Given the description of an element on the screen output the (x, y) to click on. 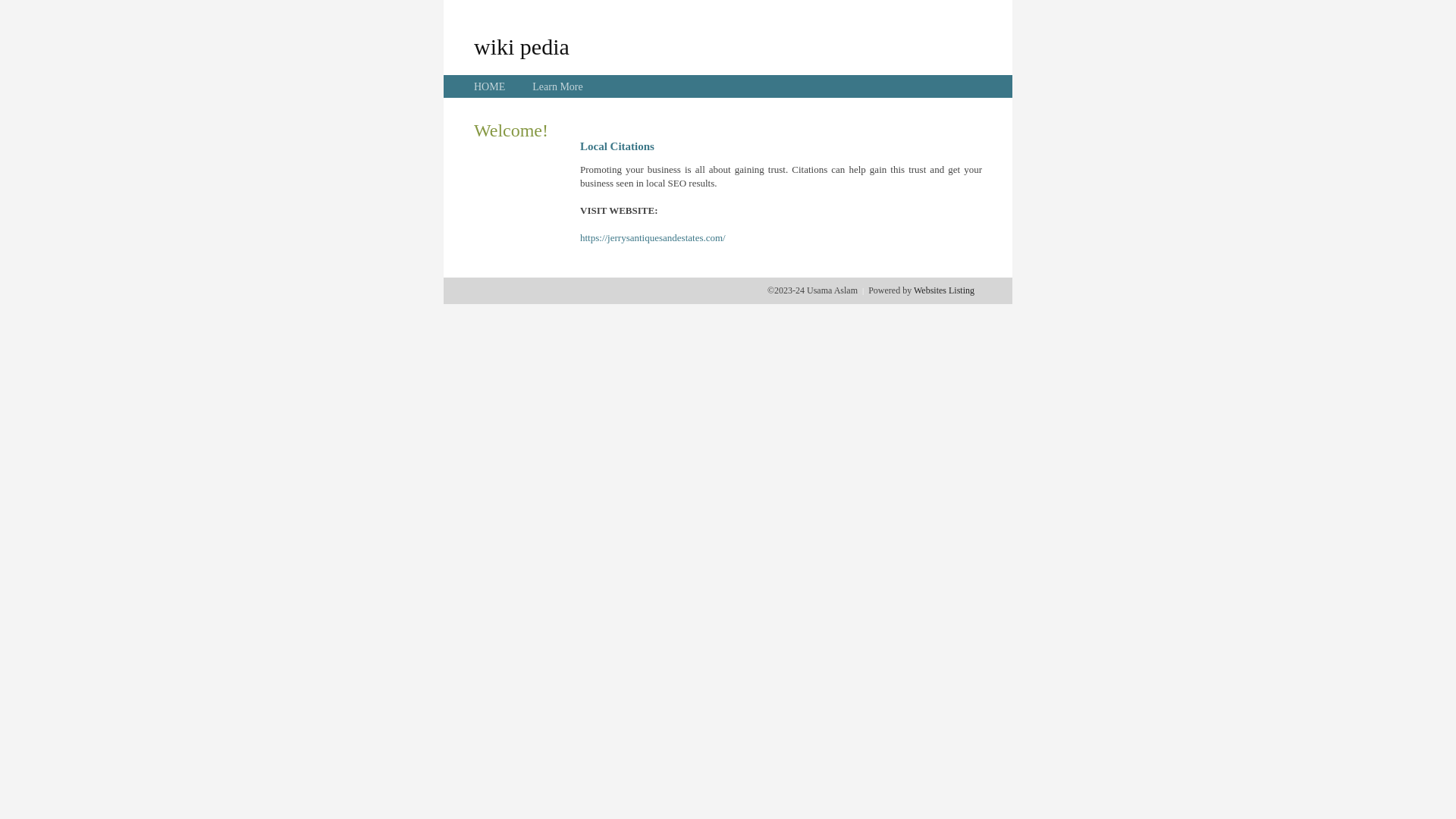
Websites Listing Element type: text (943, 290)
https://jerrysantiquesandestates.com/ Element type: text (652, 237)
HOME Element type: text (489, 86)
Learn More Element type: text (557, 86)
wiki pedia Element type: text (521, 46)
